Given the description of an element on the screen output the (x, y) to click on. 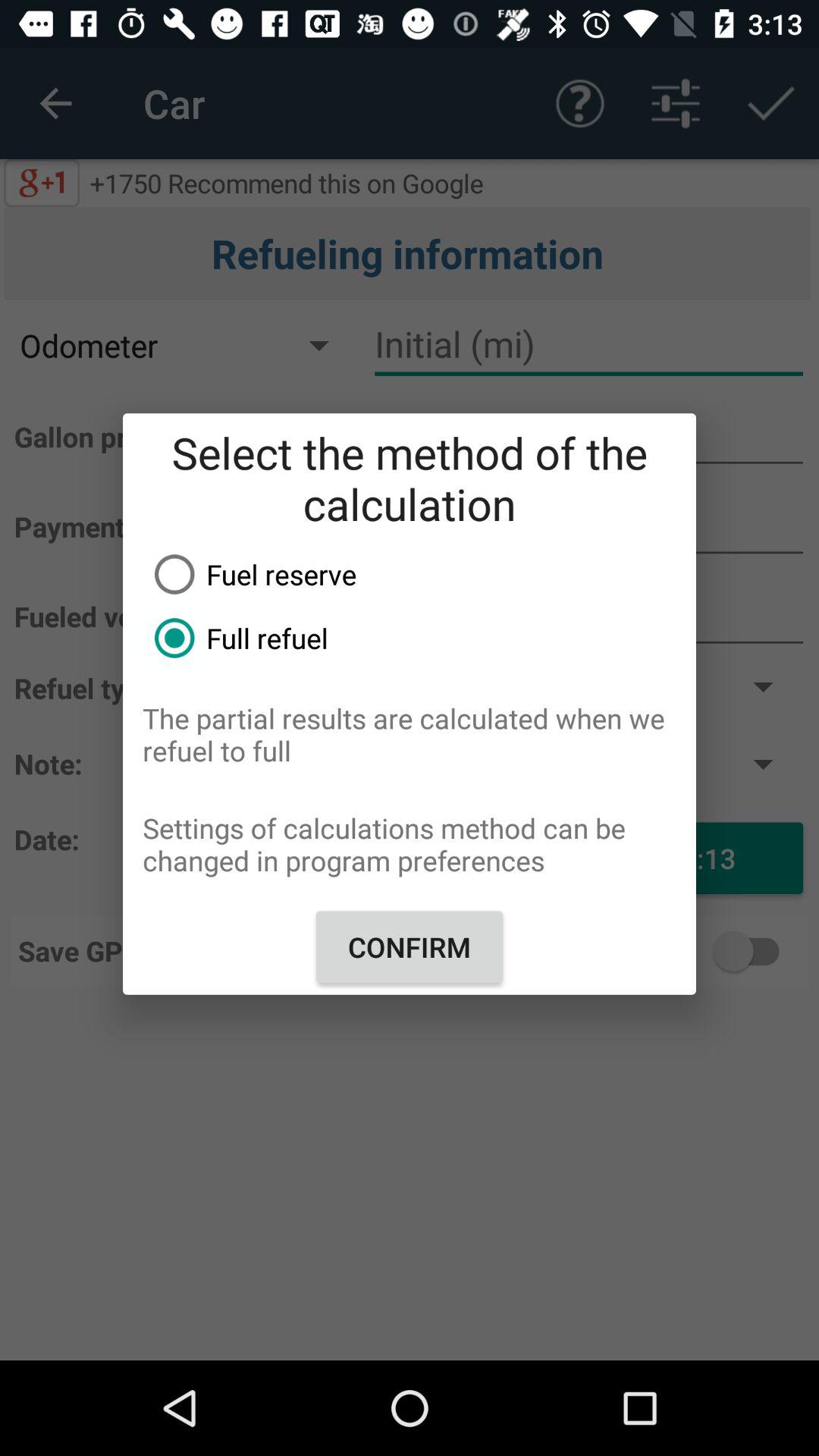
turn on the confirm item (409, 946)
